Given the description of an element on the screen output the (x, y) to click on. 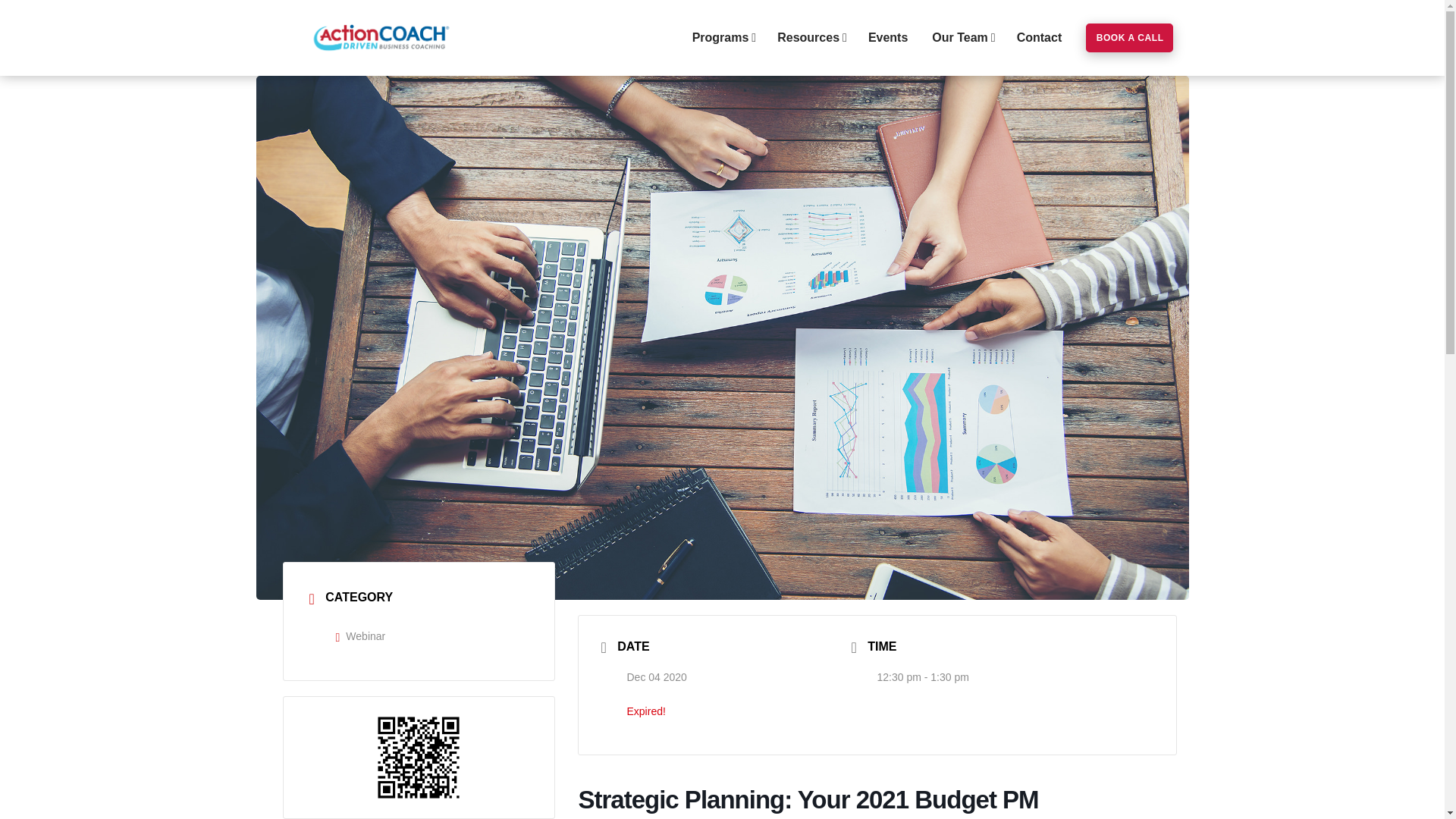
Resources (810, 37)
Webinar (359, 635)
Programs (722, 37)
Our Team (962, 37)
Contact (1039, 37)
BOOK A CALL (1129, 38)
Events (888, 37)
